Given the description of an element on the screen output the (x, y) to click on. 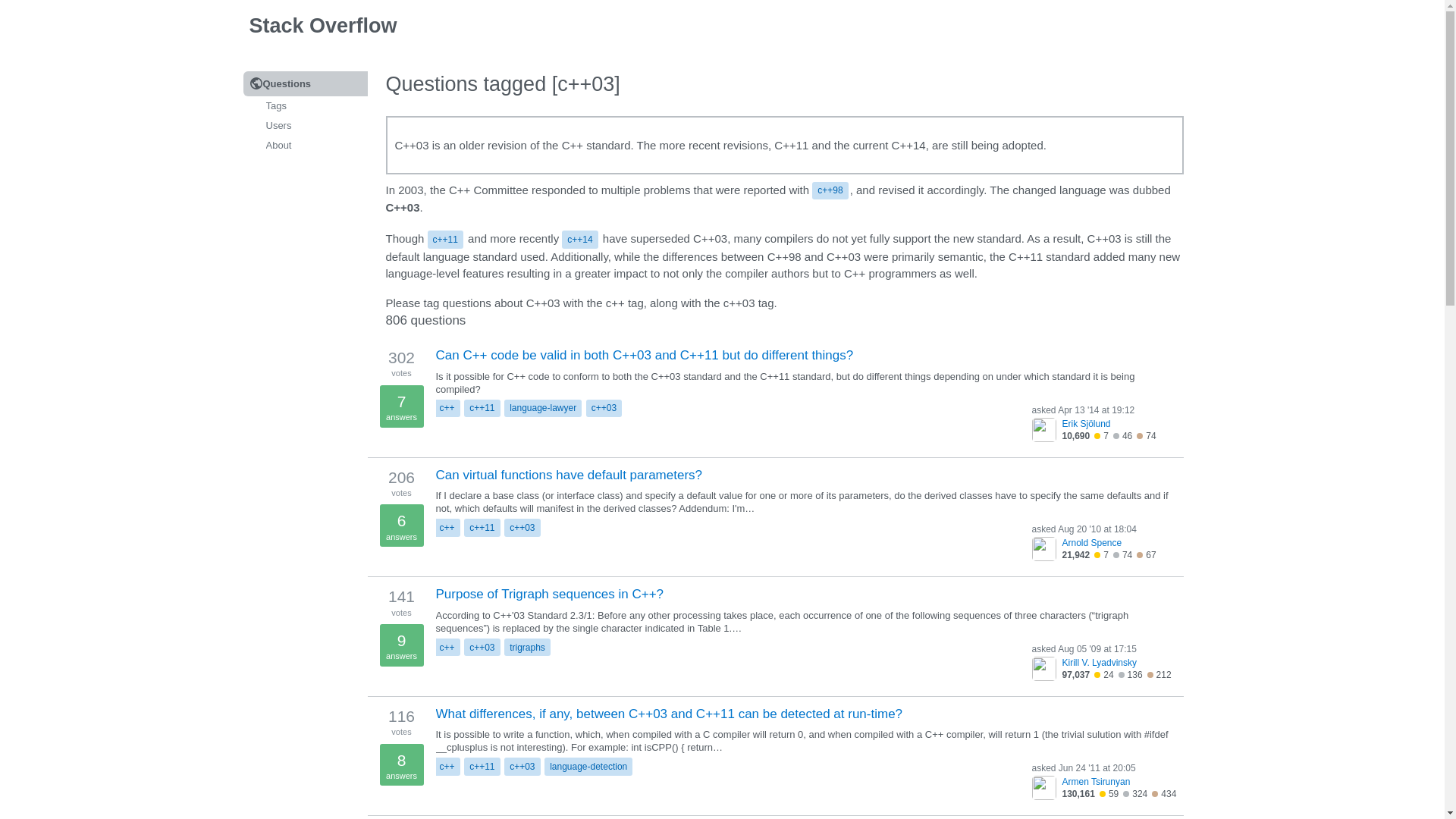
reputation score (1075, 435)
46 silver badges (1122, 435)
Users (304, 125)
language-detection (587, 766)
Tags (304, 106)
reputation score (1075, 554)
Questions (304, 83)
74 bronze badges (1146, 435)
Can virtual functions have default parameters? (568, 474)
Armen Tsirunyan (1118, 781)
